Given the description of an element on the screen output the (x, y) to click on. 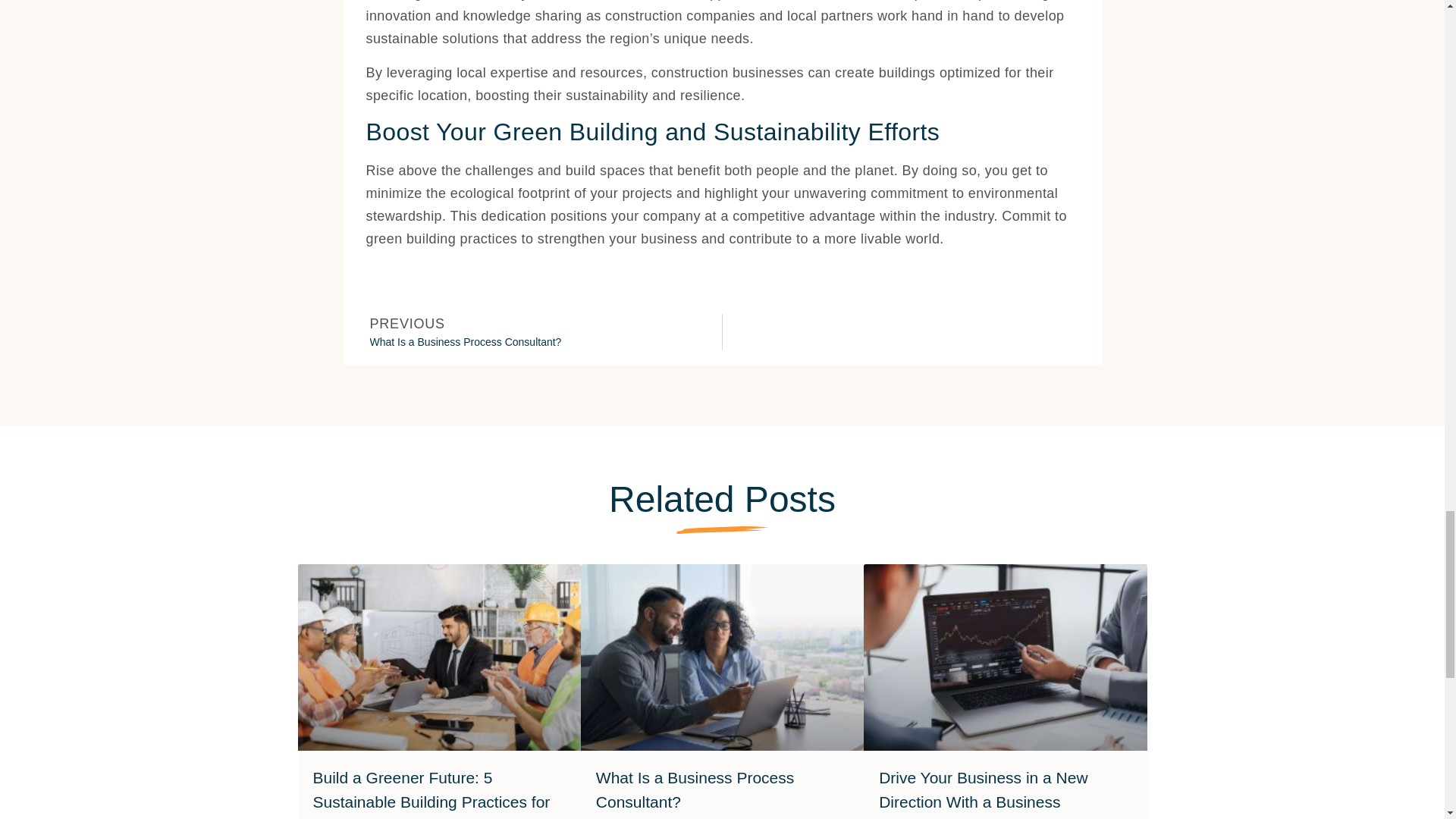
What Is a Business Process Consultant? (694, 789)
